Given the description of an element on the screen output the (x, y) to click on. 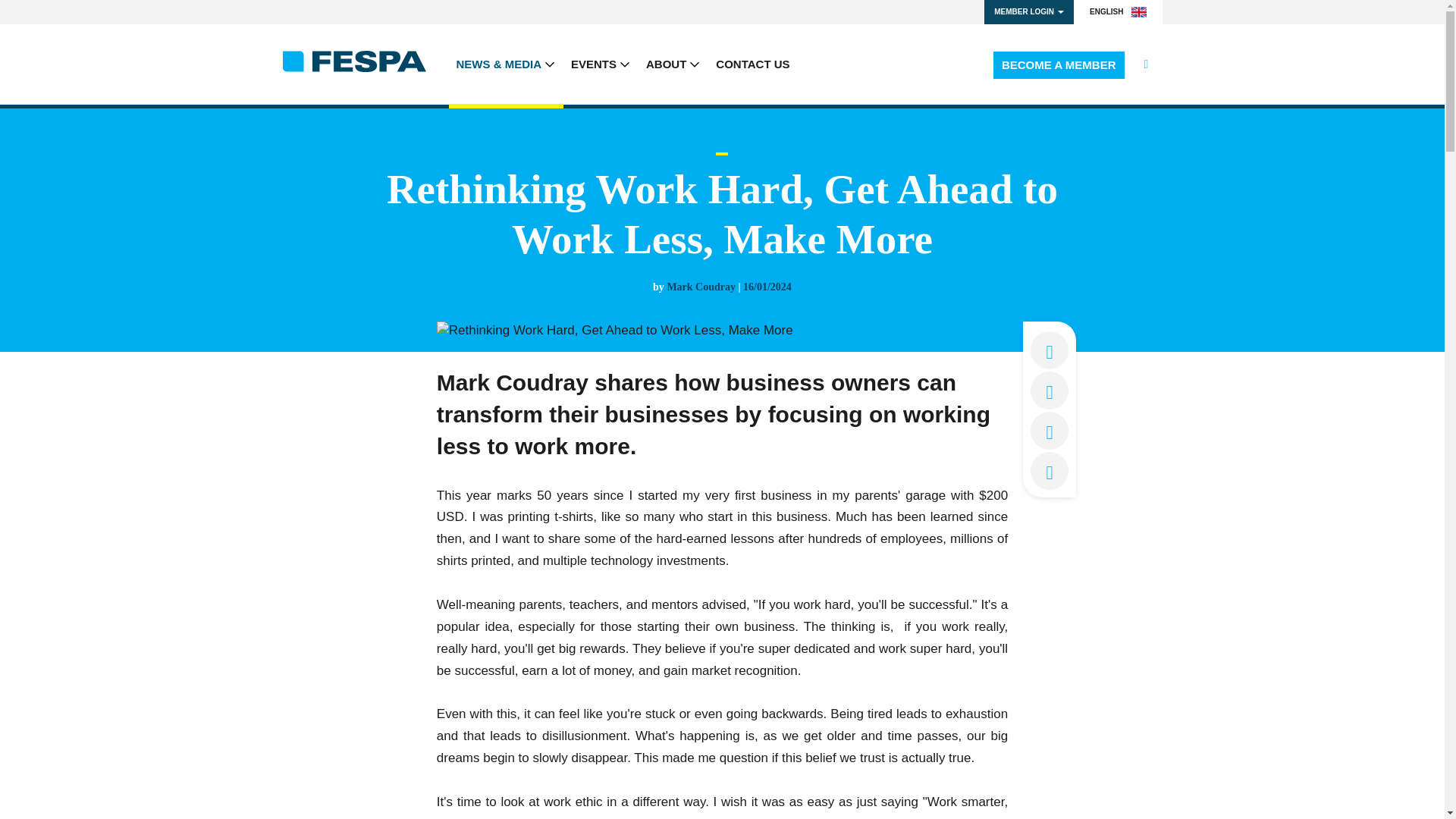
ENGLISH (1117, 12)
MEMBER LOGIN (1029, 12)
EVENTS (601, 63)
ABOUT (673, 63)
